Given the description of an element on the screen output the (x, y) to click on. 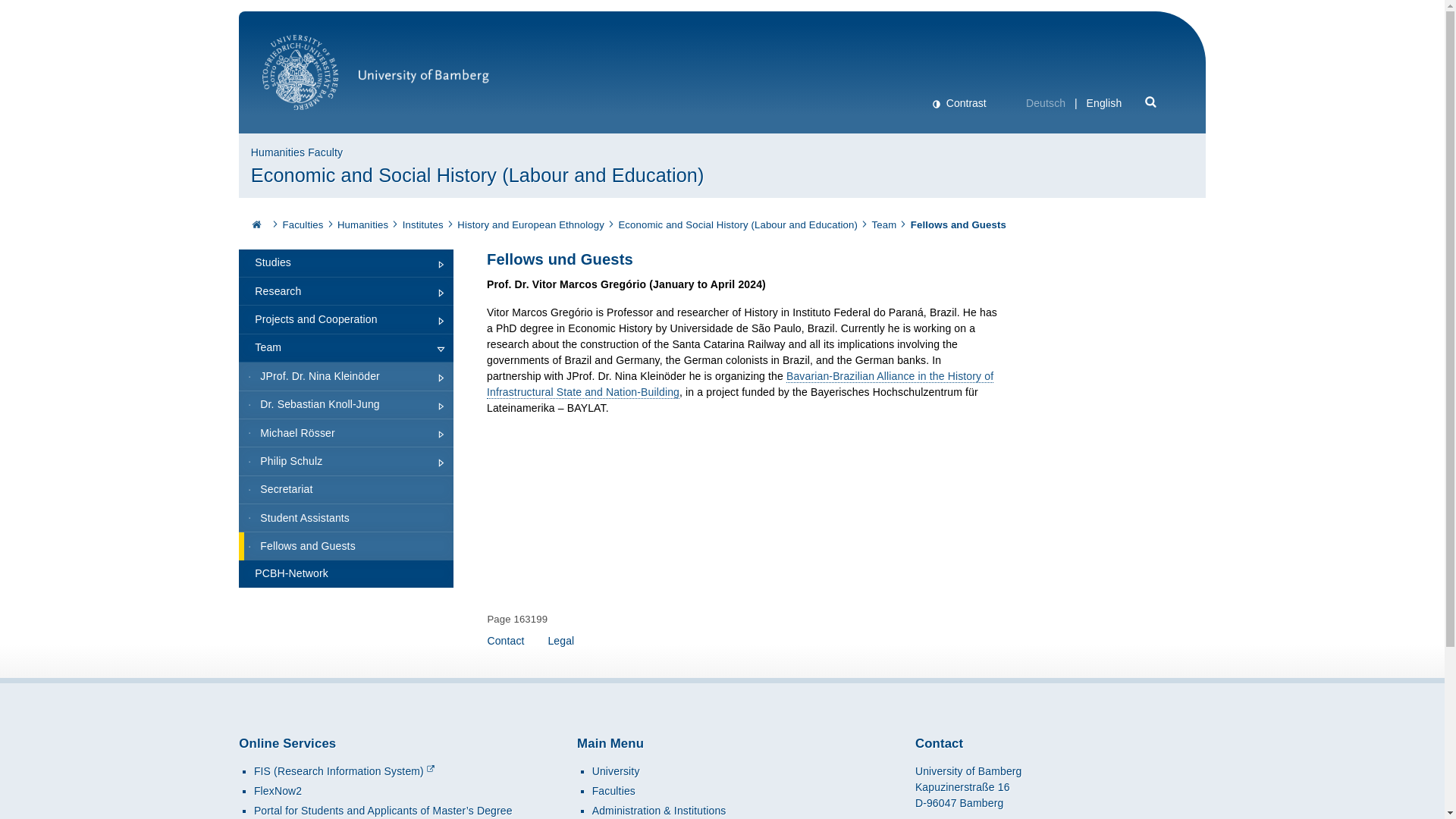
Institutes (423, 224)
  University of Bamberg (375, 79)
Humanities Faculty (296, 152)
Institutes (423, 224)
Research (345, 291)
Faculties (302, 224)
Team (884, 224)
University of Bamberg (375, 79)
Humanities (362, 224)
Contrast (959, 103)
History and European Ethnology (530, 224)
Studies (345, 263)
Deutsch (1045, 103)
History and European Ethnology (530, 224)
